Given the description of an element on the screen output the (x, y) to click on. 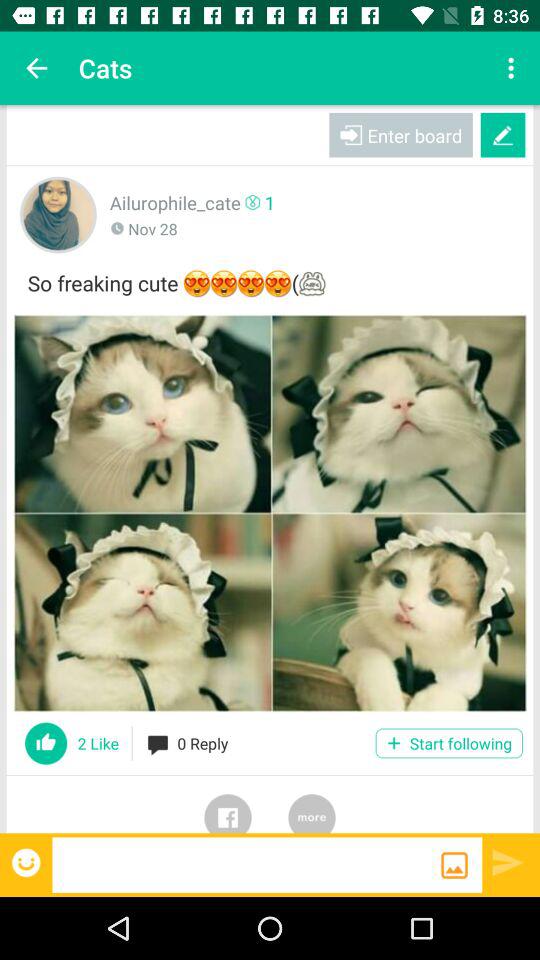
click to type a comment (246, 864)
